Given the description of an element on the screen output the (x, y) to click on. 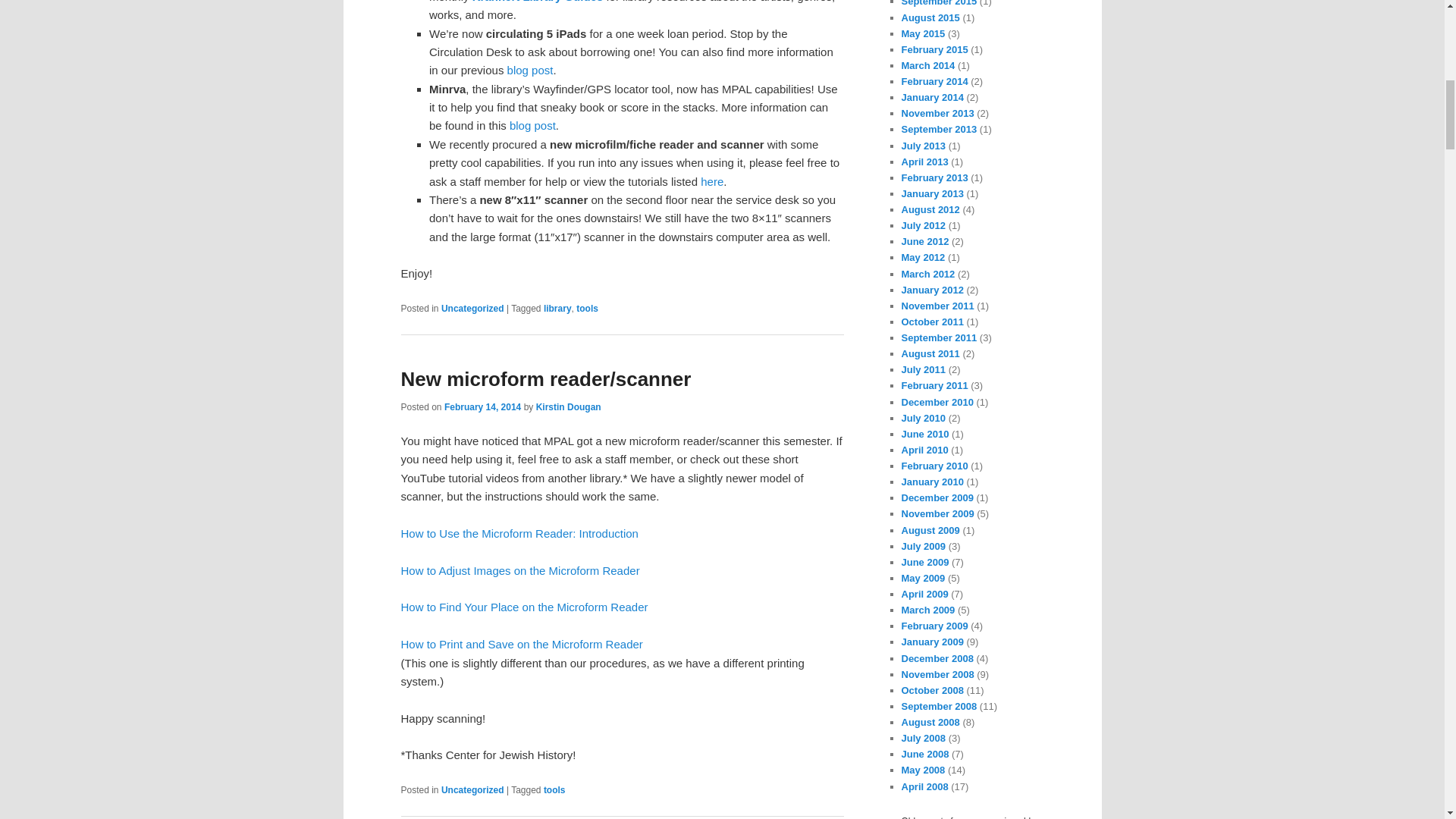
How to Find Your Place on the Microform Reader (523, 606)
Kirstin Dougan (568, 407)
tools (554, 789)
Krannert Library Guides (537, 1)
blog post (529, 69)
View all posts by Kirstin Dougan (568, 407)
How to Print and Save on the Microform Reader (521, 644)
blog post (532, 124)
February 14, 2014 (482, 407)
tools (587, 308)
here (711, 181)
library (557, 308)
How to Use the Microform Reader: Introduction (518, 533)
Uncategorized (472, 308)
Uncategorized (472, 789)
